Given the description of an element on the screen output the (x, y) to click on. 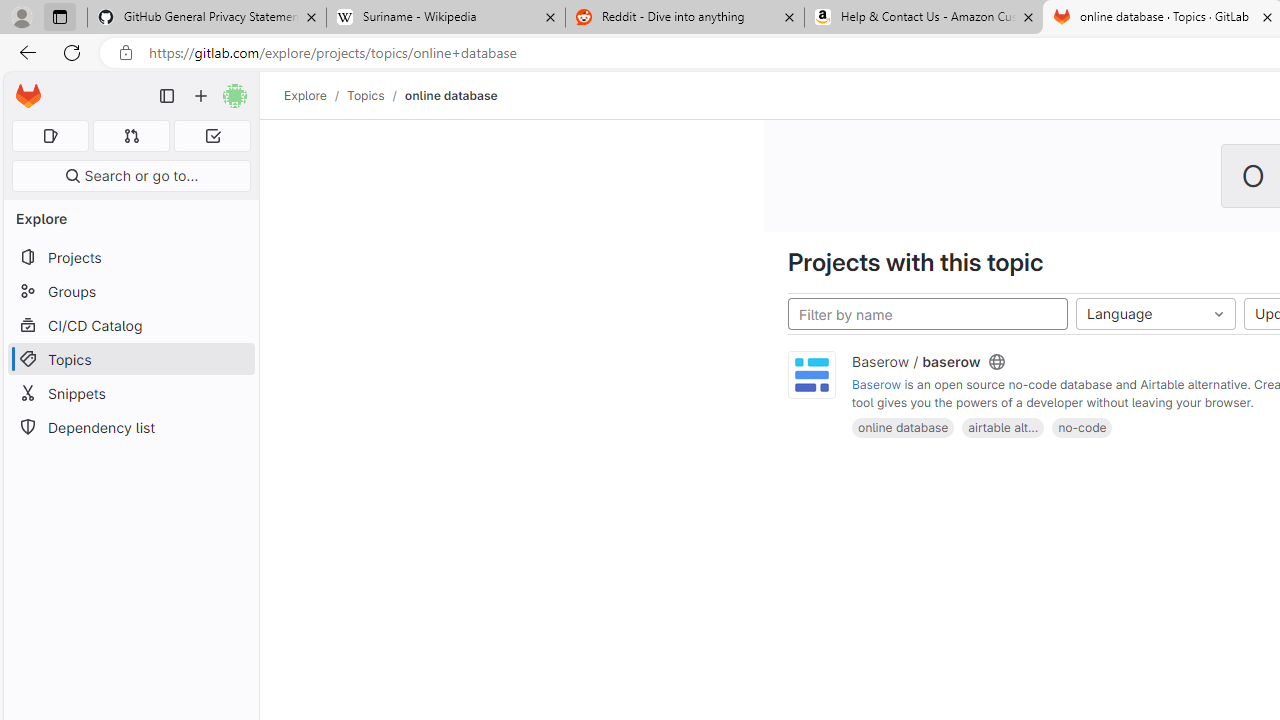
online database (902, 426)
Create new... (201, 96)
Language (1156, 314)
Merge requests 0 (131, 136)
Class: s16 dropdown-menu-toggle-icon (1218, 314)
Filter by name (927, 314)
Projects (130, 257)
Dependency list (130, 427)
GitHub General Privacy Statement - GitHub Docs (207, 17)
Suriname - Wikipedia (445, 17)
